Given the description of an element on the screen output the (x, y) to click on. 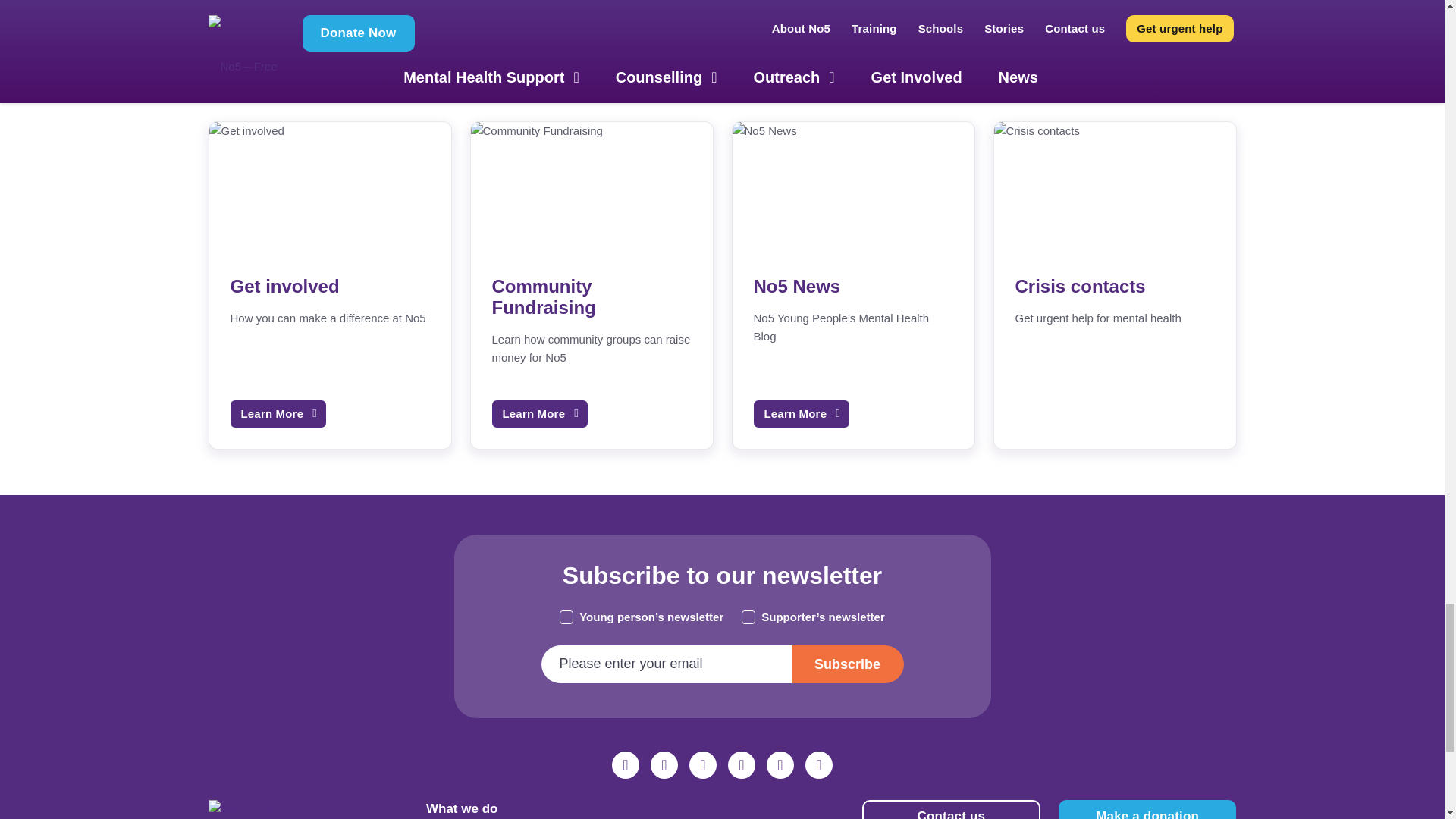
Share Your Story (591, 39)
Subscribe (848, 664)
